Given the description of an element on the screen output the (x, y) to click on. 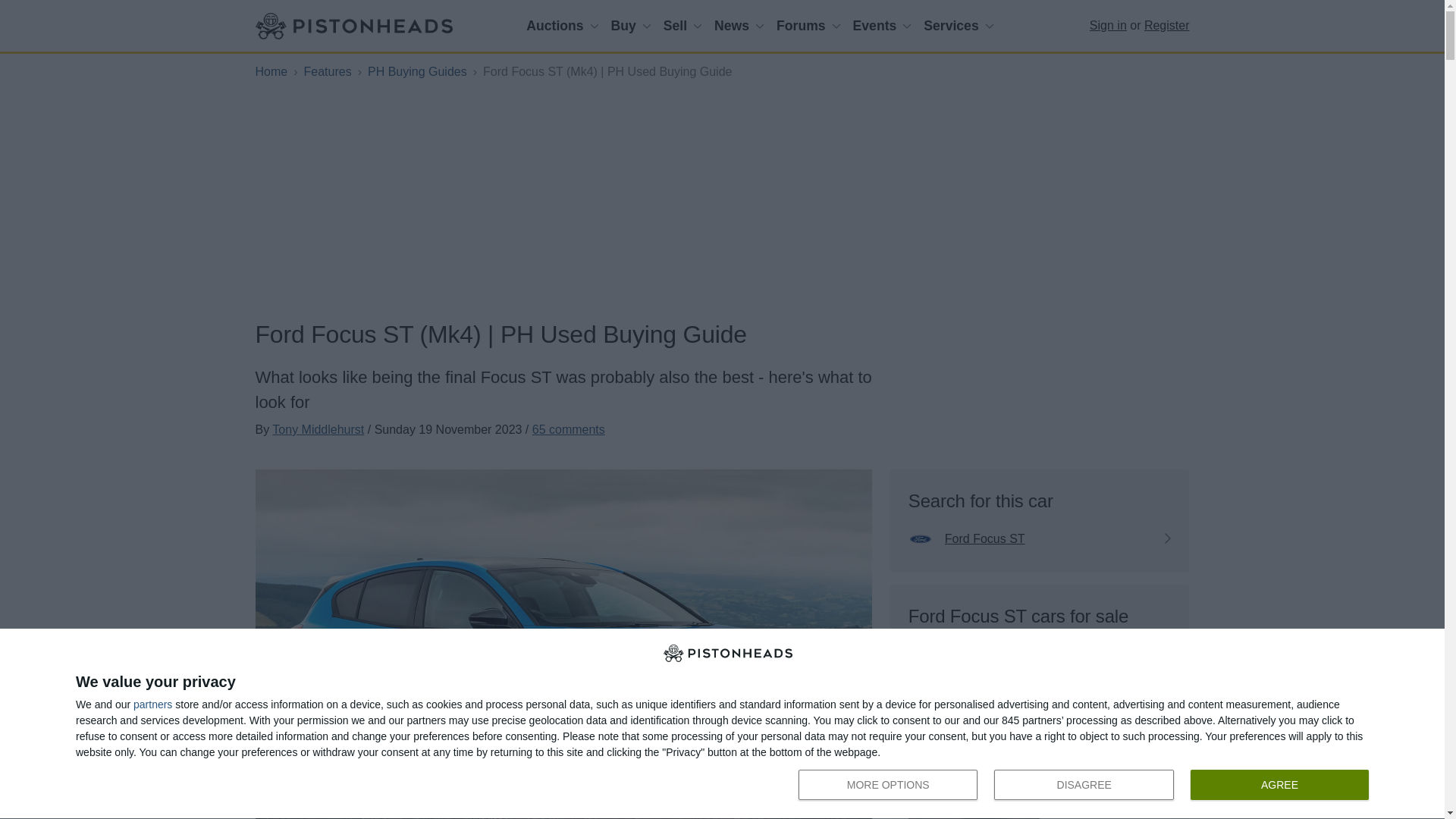
Sell (682, 25)
partners (152, 704)
AGREE (1279, 784)
Auctions (561, 25)
MORE OPTIONS (886, 784)
Buy (1086, 785)
DISAGREE (631, 25)
News (1083, 784)
